Given the description of an element on the screen output the (x, y) to click on. 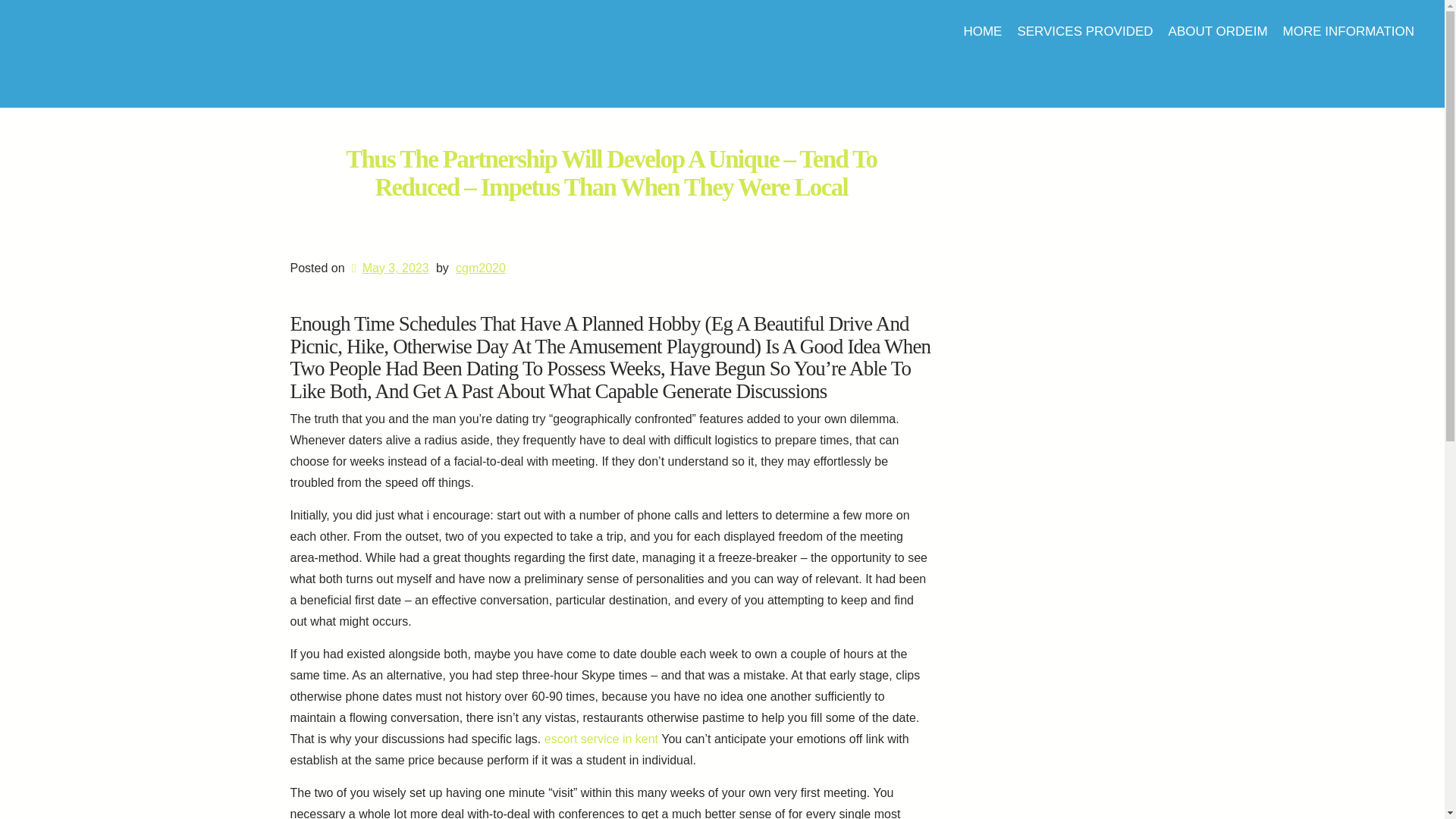
escort service in kent (601, 738)
SERVICES PROVIDED (1084, 31)
May 3, 2023 (388, 267)
MORE INFORMATION (1348, 31)
ABOUT ORDEIM (1217, 31)
cgm2020 (480, 267)
HOME (982, 31)
